Given the description of an element on the screen output the (x, y) to click on. 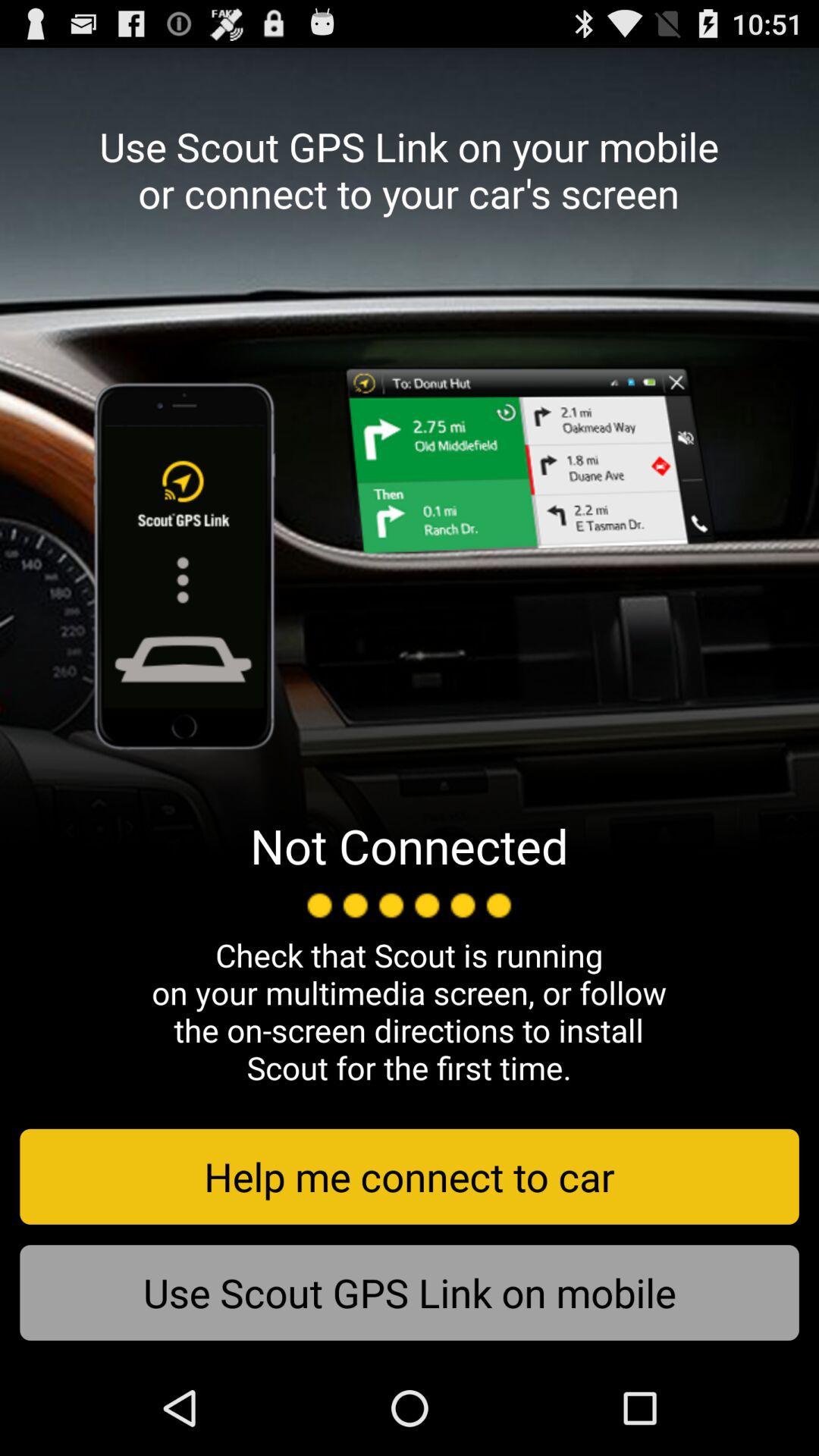
launch the icon below the check that scout (409, 1176)
